Given the description of an element on the screen output the (x, y) to click on. 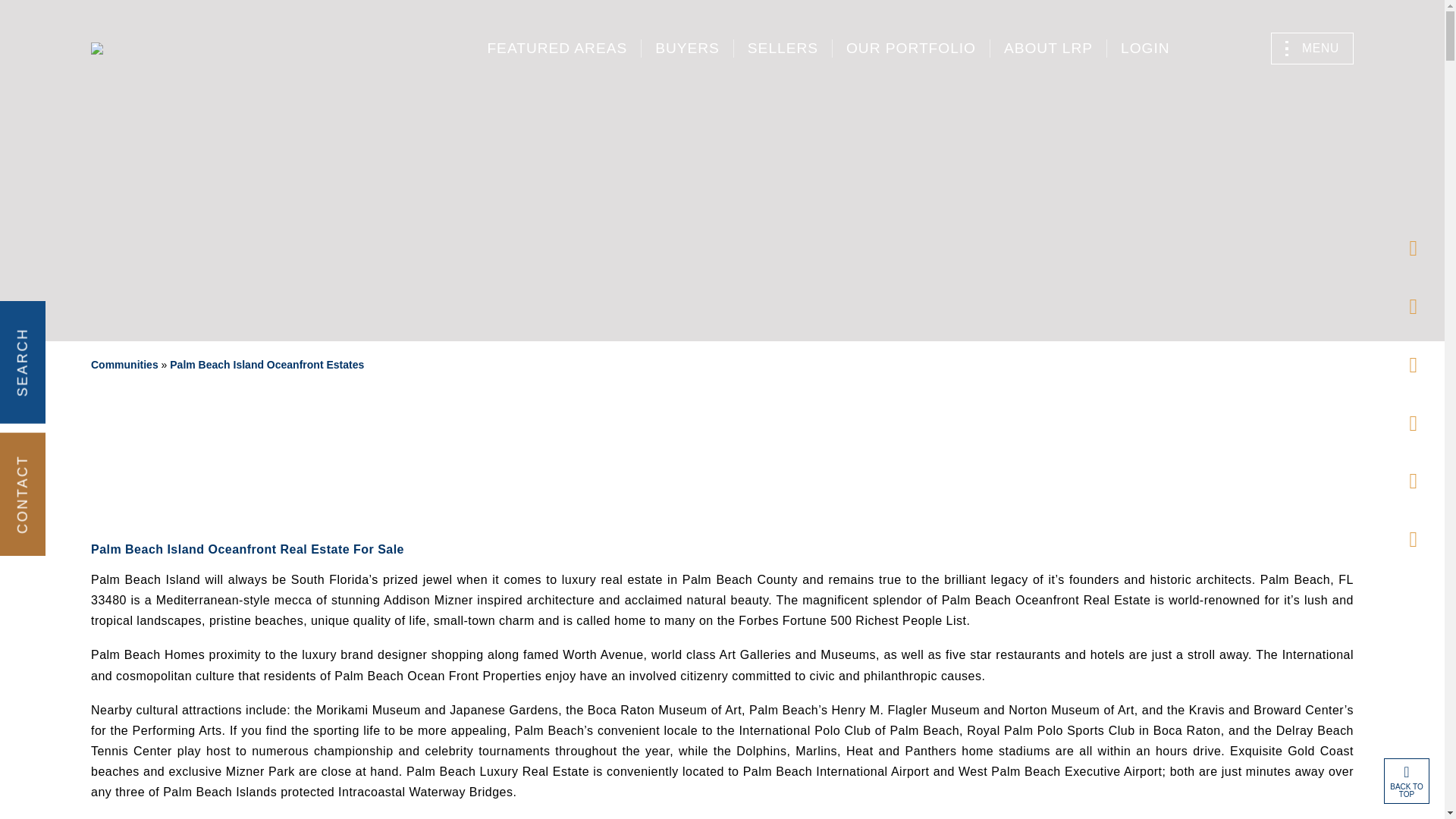
Burger Menu (1312, 48)
